Given the description of an element on the screen output the (x, y) to click on. 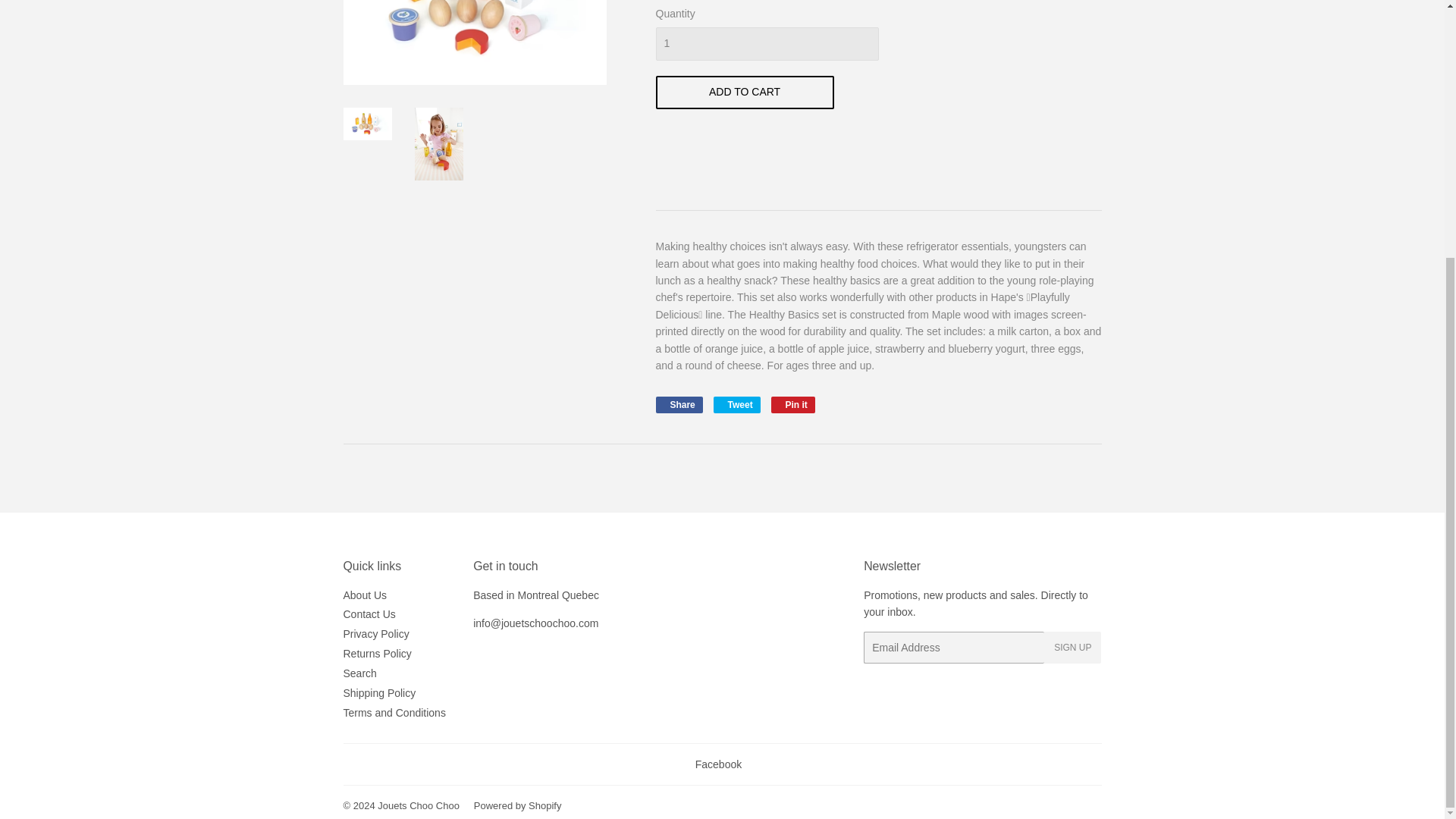
Pin on Pinterest (793, 404)
Tweet on Twitter (736, 404)
Share on Facebook (678, 404)
1 (766, 43)
Jouets Choo Choo on Facebook (718, 764)
